Given the description of an element on the screen output the (x, y) to click on. 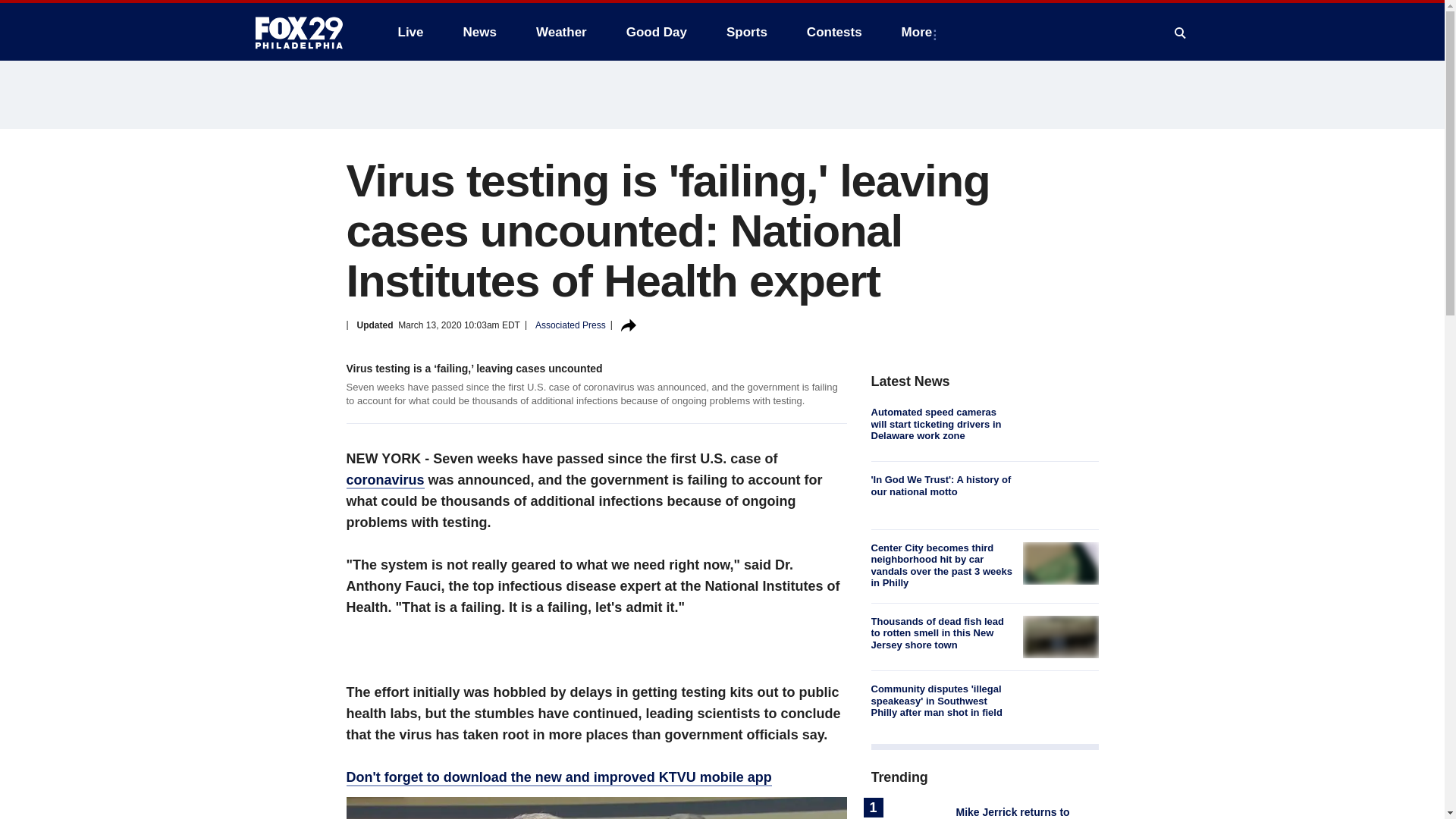
Live (410, 32)
News (479, 32)
Contests (834, 32)
Sports (746, 32)
Good Day (656, 32)
Weather (561, 32)
More (919, 32)
